Given the description of an element on the screen output the (x, y) to click on. 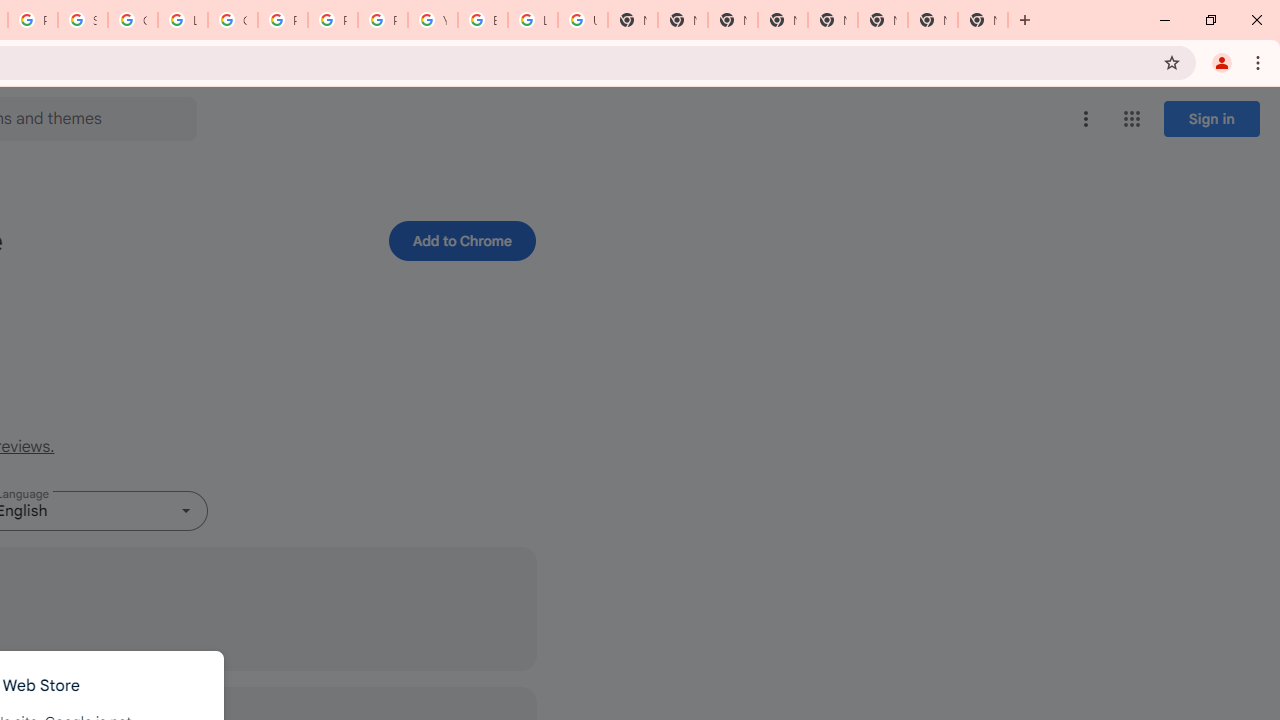
Sign in - Google Accounts (82, 20)
New Tab (732, 20)
